Given the description of an element on the screen output the (x, y) to click on. 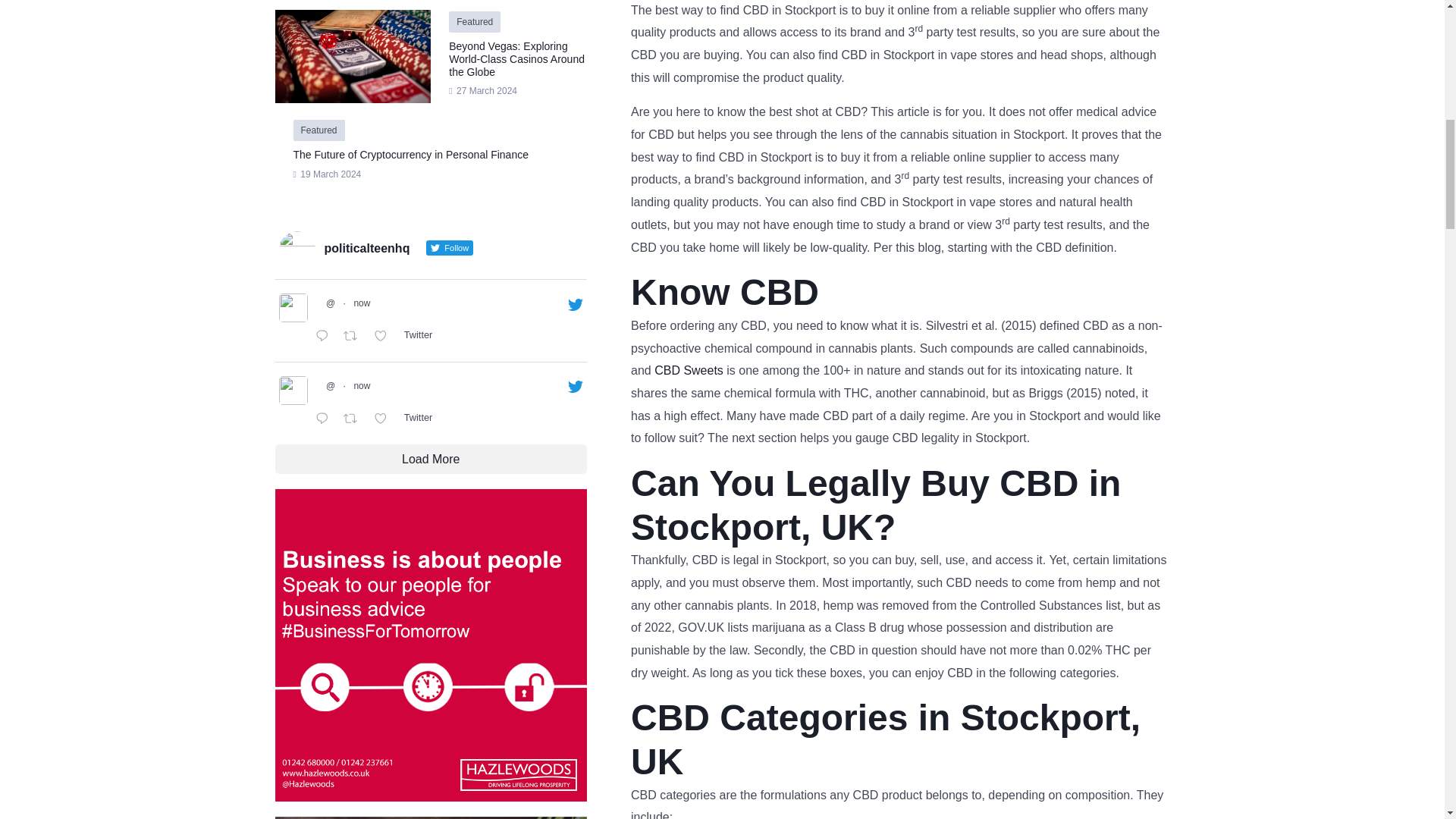
now (361, 303)
Beyond Vegas: Exploring World-Class Casinos Around the Globe (516, 58)
Retweet on Twitter (354, 337)
politicalteenhq Follow (395, 248)
The Future of Cryptocurrency in Personal Finance (409, 154)
Featured (317, 130)
Like on Twitter (384, 337)
Reply on Twitter (325, 337)
Featured (475, 21)
